Given the description of an element on the screen output the (x, y) to click on. 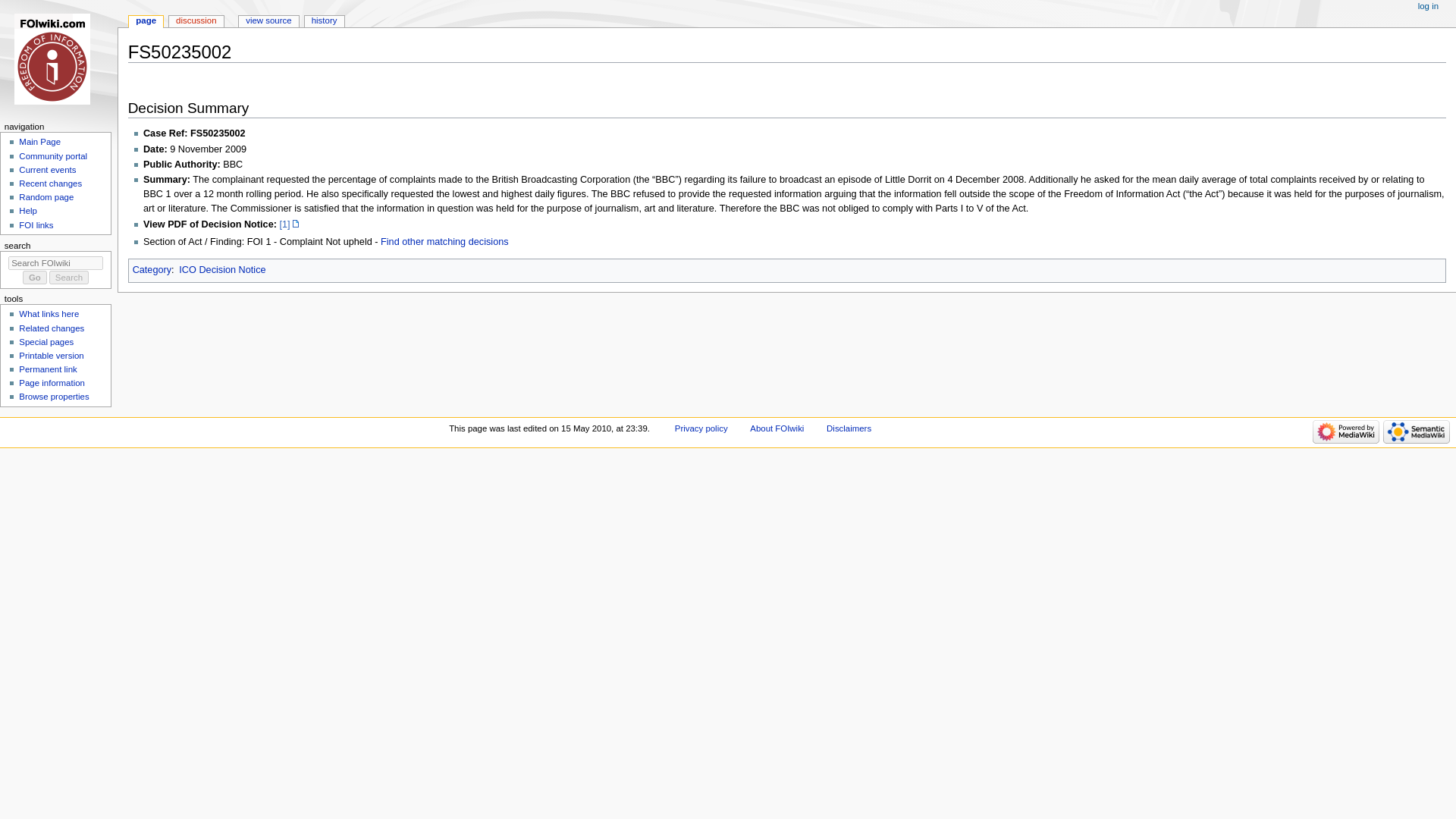
Go (34, 277)
log in (1428, 6)
Find background information on current events (46, 169)
Browse properties (53, 396)
Related changes (51, 327)
What links here (48, 313)
ICO Decision Notice (221, 269)
discussion (196, 21)
Search (68, 277)
view source (268, 21)
Permanent link (47, 368)
Page information (51, 382)
page (146, 21)
Category (151, 269)
Help (27, 210)
